Given the description of an element on the screen output the (x, y) to click on. 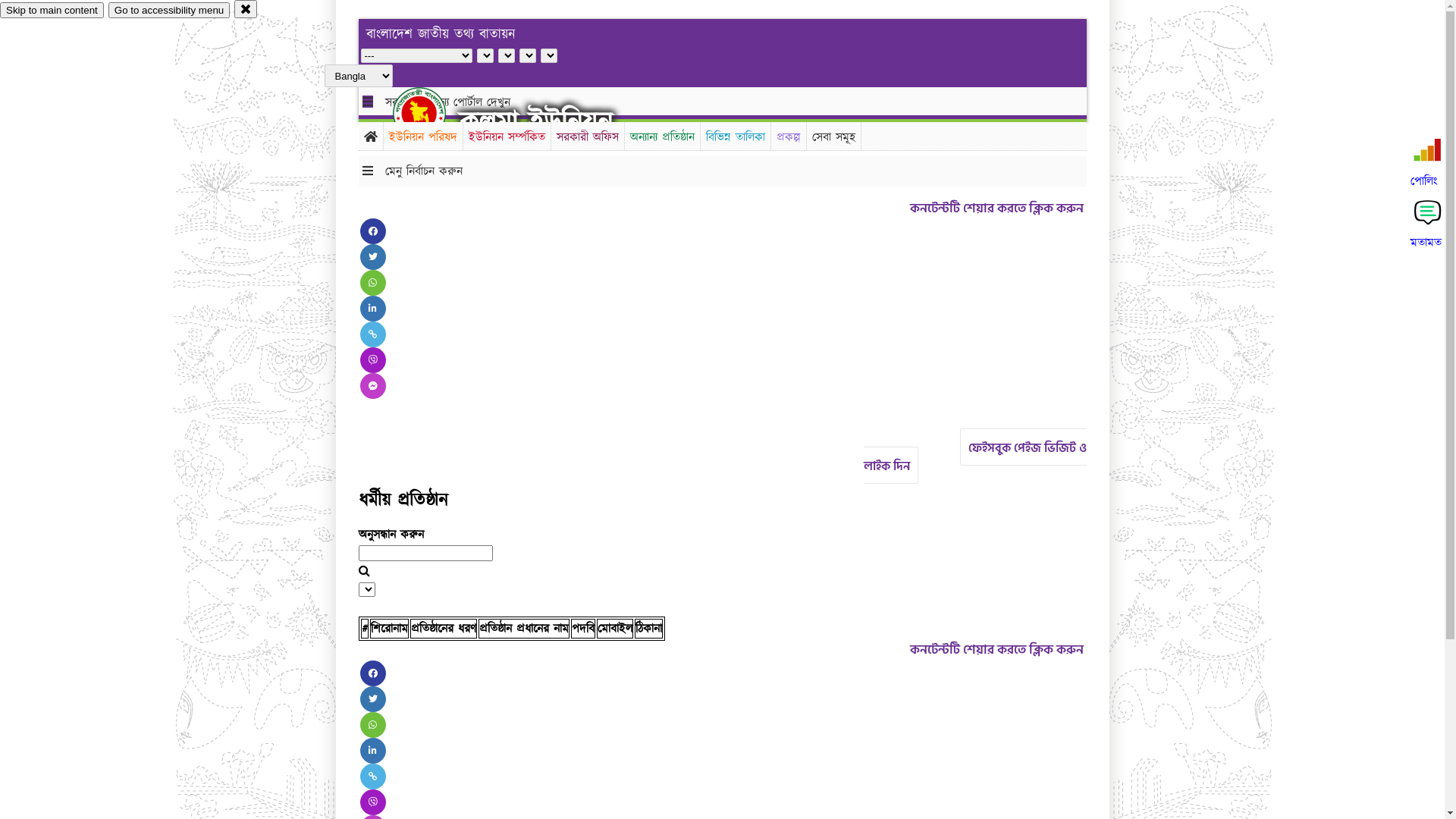

                
             Element type: hover (431, 112)
Skip to main content Element type: text (51, 10)
close Element type: hover (245, 9)
Go to accessibility menu Element type: text (168, 10)
